Given the description of an element on the screen output the (x, y) to click on. 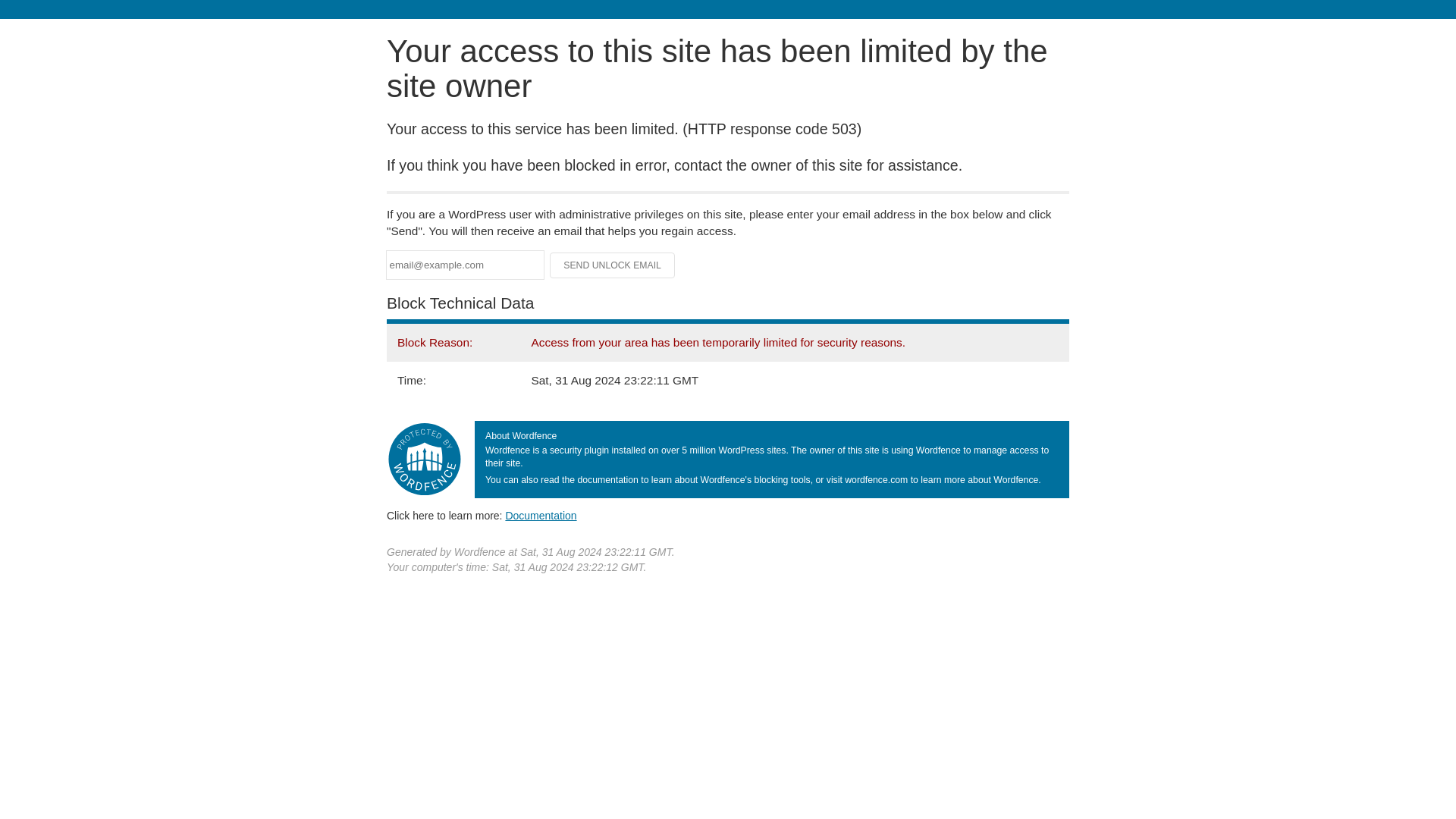
Send Unlock Email (612, 265)
Send Unlock Email (612, 265)
Documentation (540, 515)
